Given the description of an element on the screen output the (x, y) to click on. 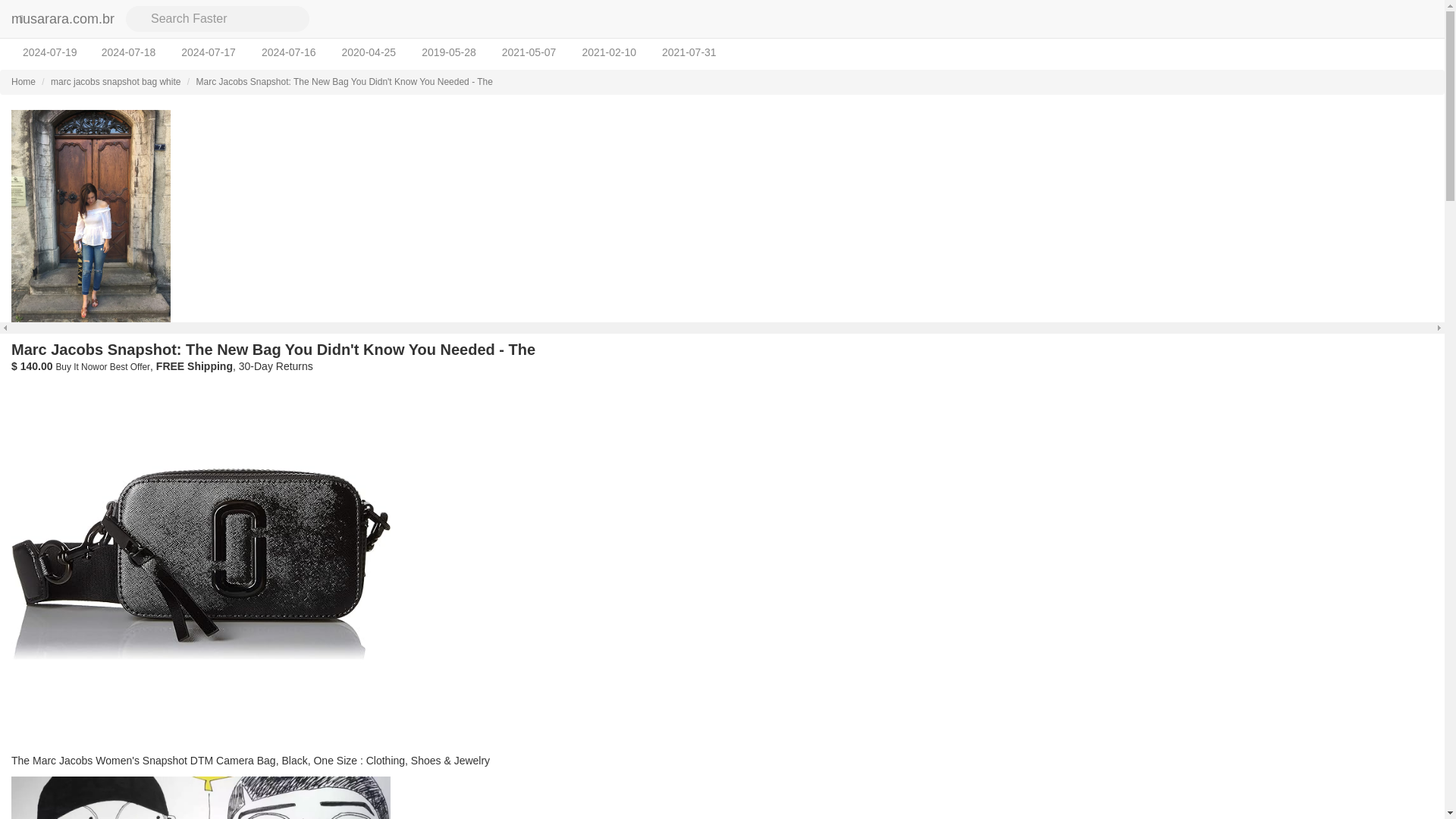
2024-07-16 (288, 52)
2024-07-18 (128, 52)
Home (22, 81)
musarara.com.br (62, 18)
2024-07-17 (208, 52)
2021-07-31 (689, 52)
2021-05-07 (528, 52)
marc jacobs snapshot bag white (115, 81)
musarara.com.br (62, 18)
2020-04-25 (368, 52)
2024-07-19 (49, 52)
2019-05-28 (448, 52)
2021-02-10 (608, 52)
